Given the description of an element on the screen output the (x, y) to click on. 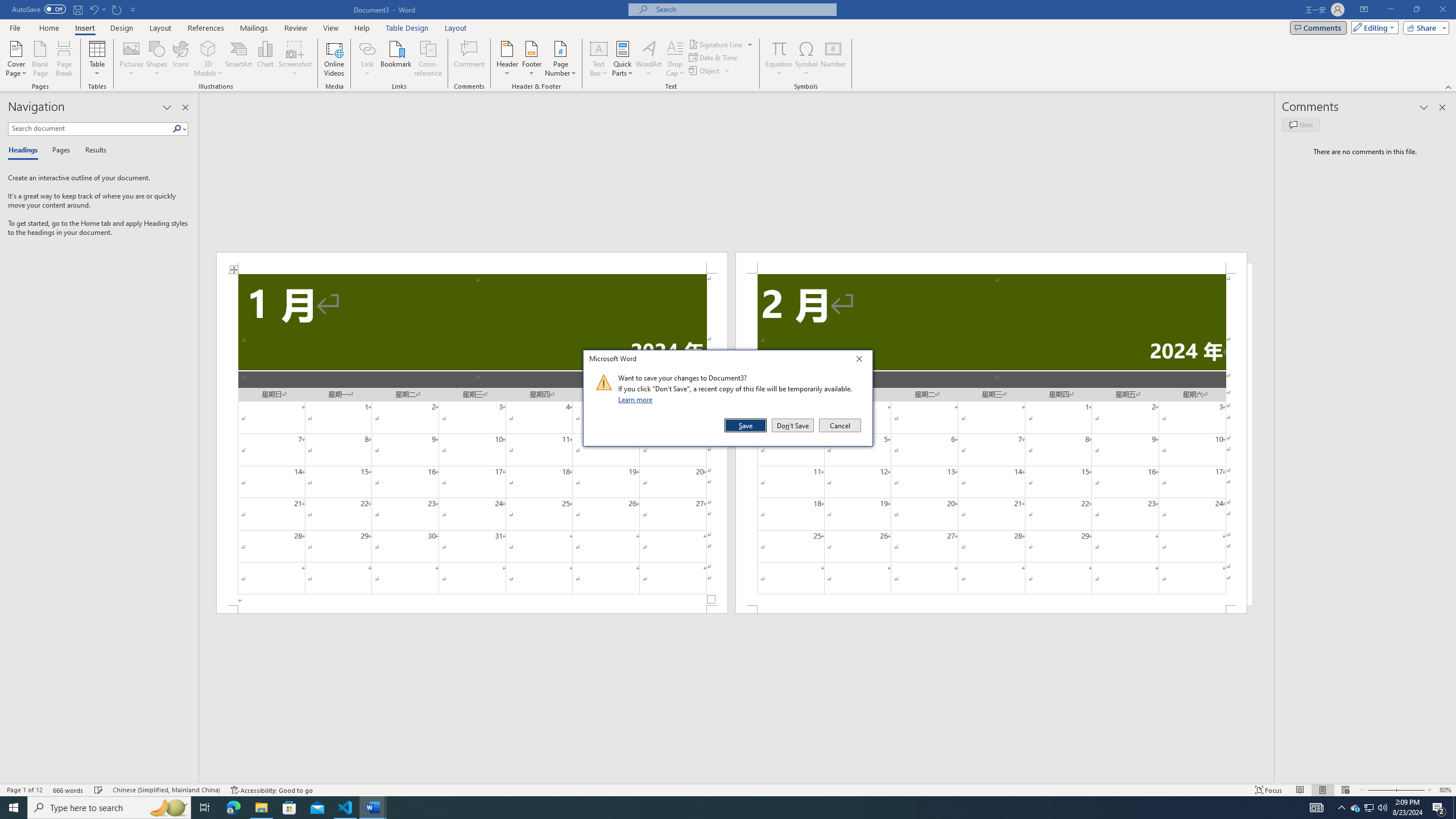
Online Videos... (333, 58)
New comment (1300, 124)
WordArt (648, 58)
Learn more (636, 399)
Cross-reference... (428, 58)
SmartArt... (238, 58)
Microsoft Store (289, 807)
Bookmark... (396, 58)
